Given the description of an element on the screen output the (x, y) to click on. 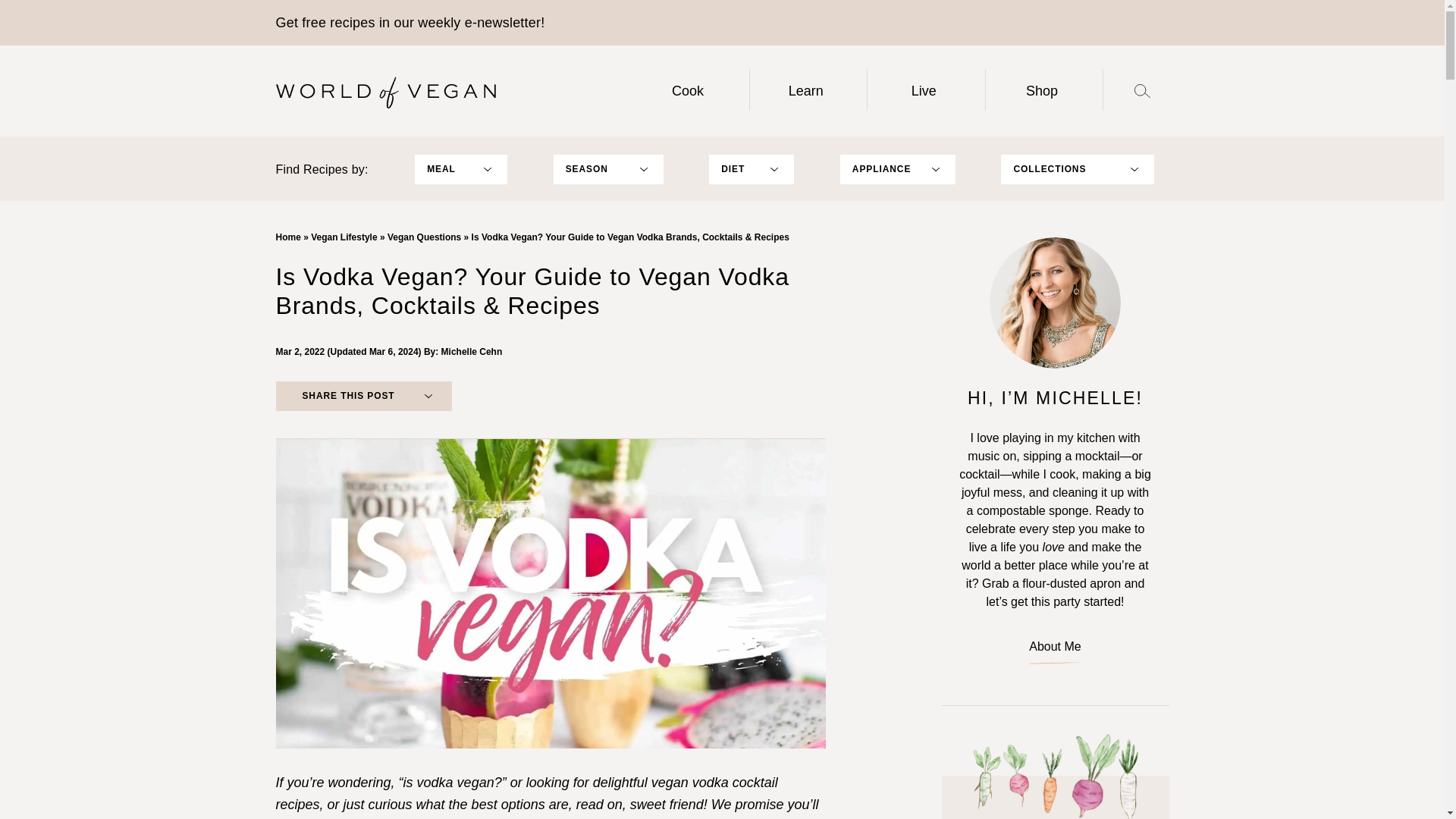
weekly e-newsletter (478, 22)
Michelle Cehn (471, 351)
